Given the description of an element on the screen output the (x, y) to click on. 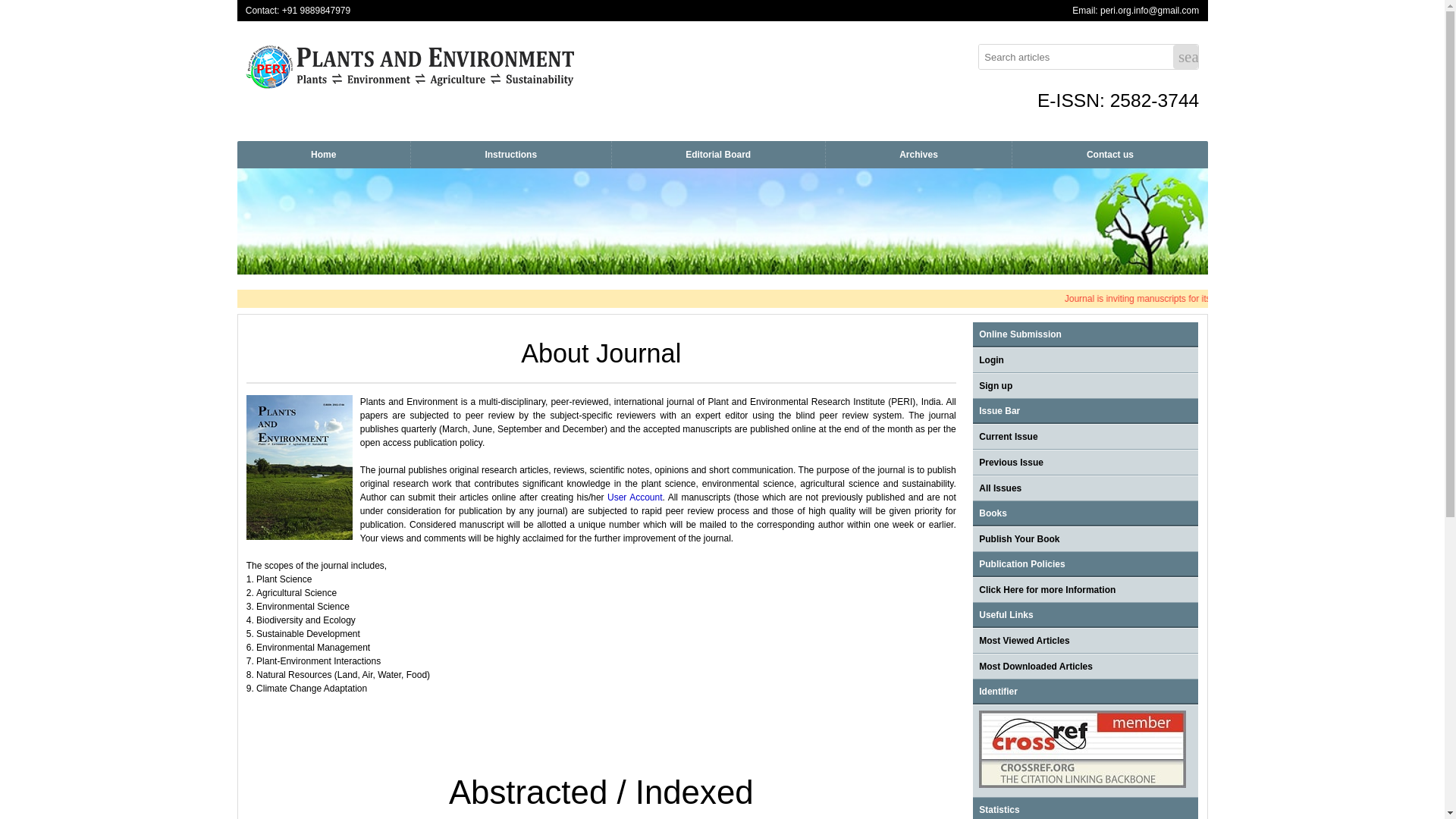
search (1185, 56)
Sign up (994, 385)
Login (991, 359)
Most Viewed Articles (1023, 640)
Most Downloaded Articles (1035, 665)
All Issues (1000, 488)
Instructions (510, 154)
Archives (918, 154)
Editorial Board (718, 154)
Current Issue (1007, 436)
